Given the description of an element on the screen output the (x, y) to click on. 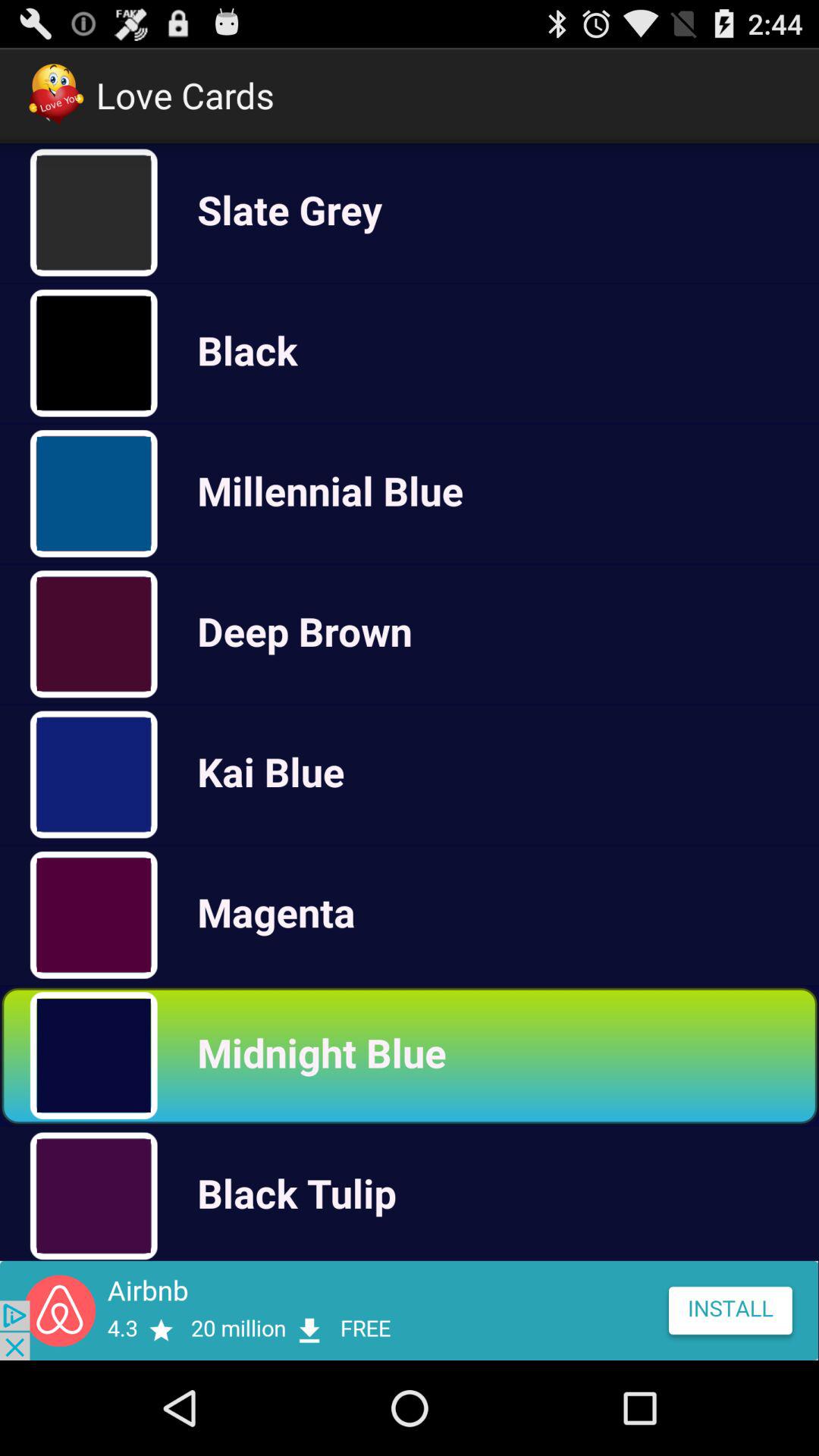
advertising bar (409, 1310)
